Given the description of an element on the screen output the (x, y) to click on. 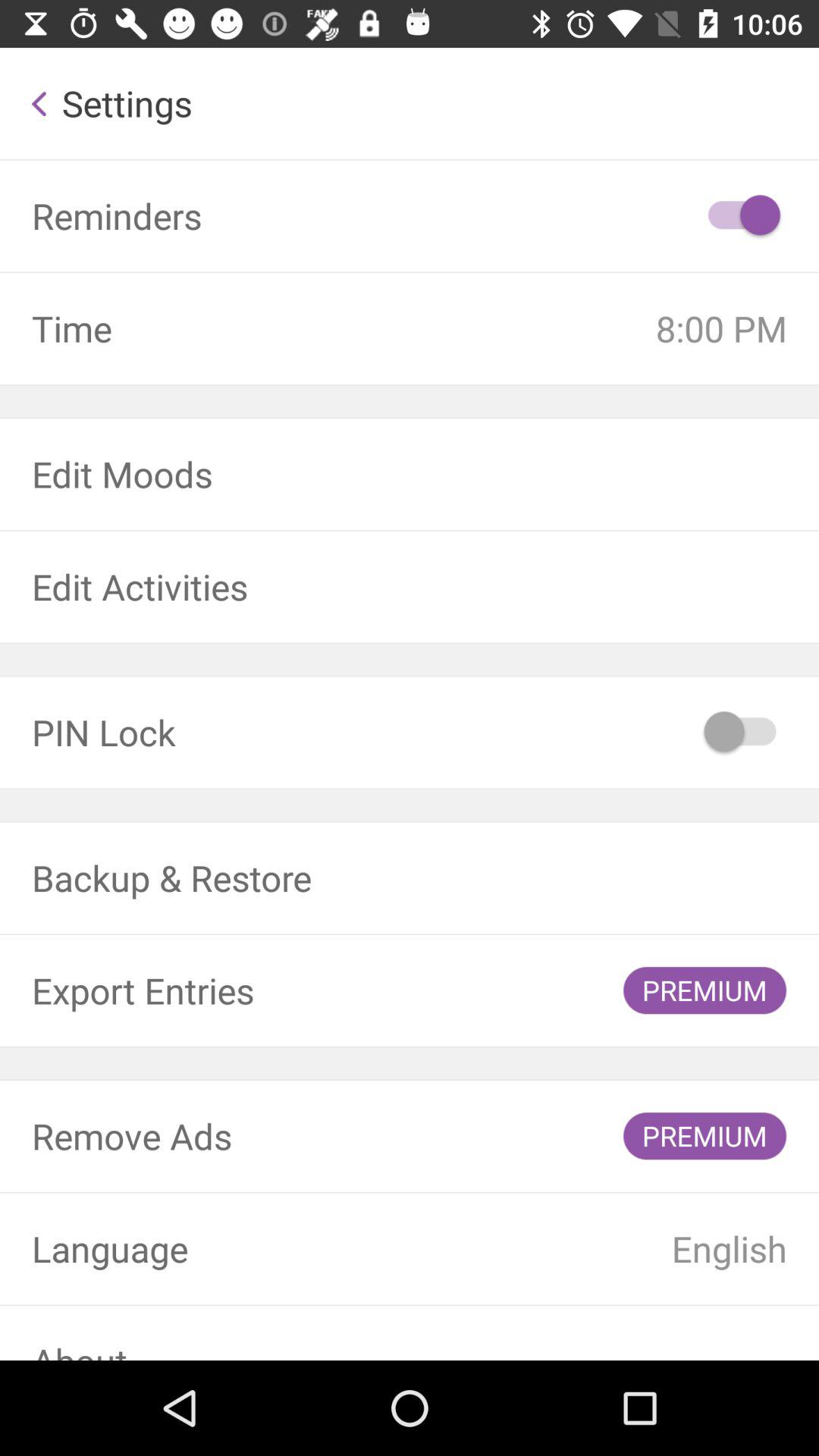
turn on the app to the right of reminders (742, 216)
